Given the description of an element on the screen output the (x, y) to click on. 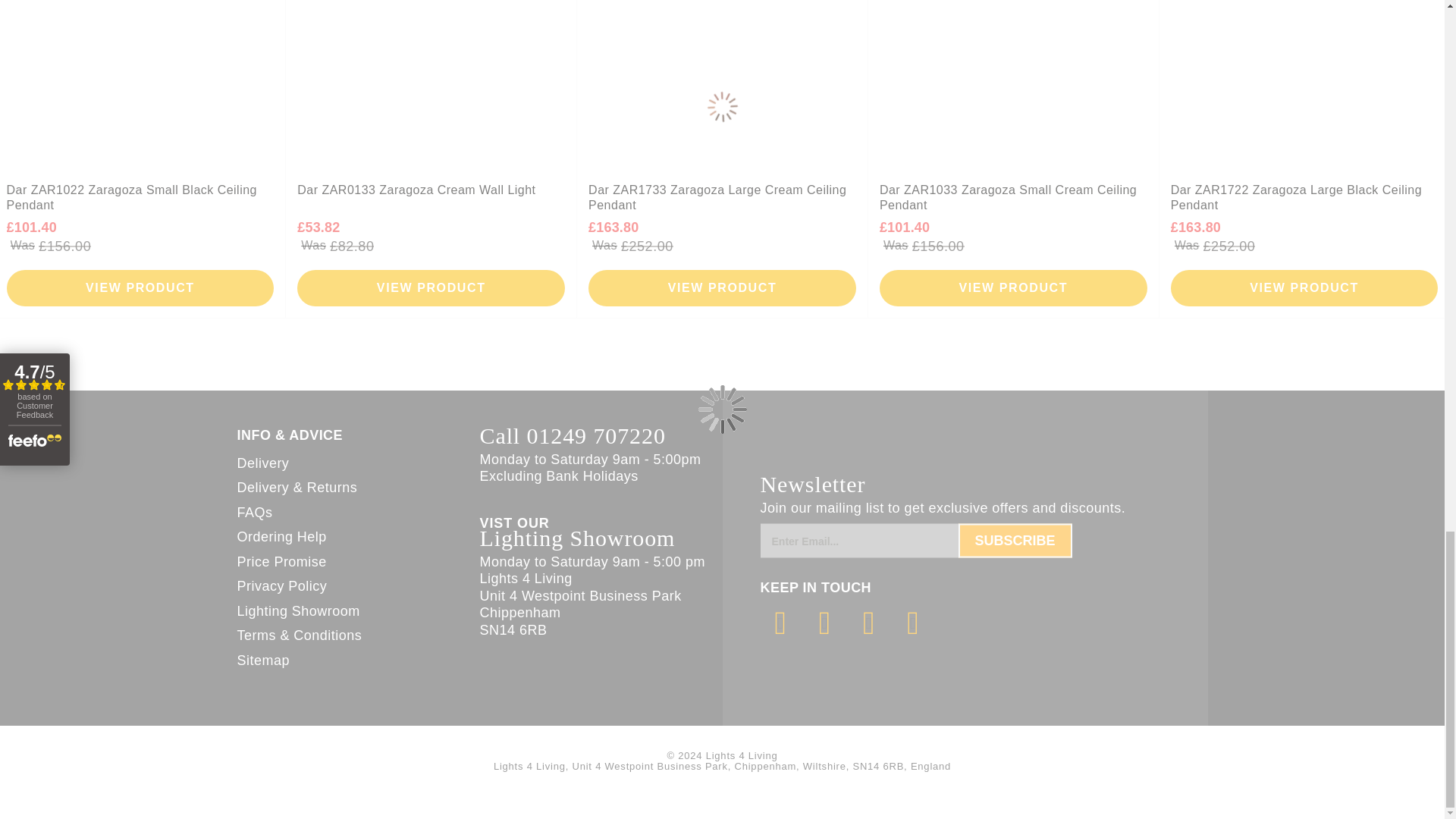
Subscribe (1014, 540)
